Given the description of an element on the screen output the (x, y) to click on. 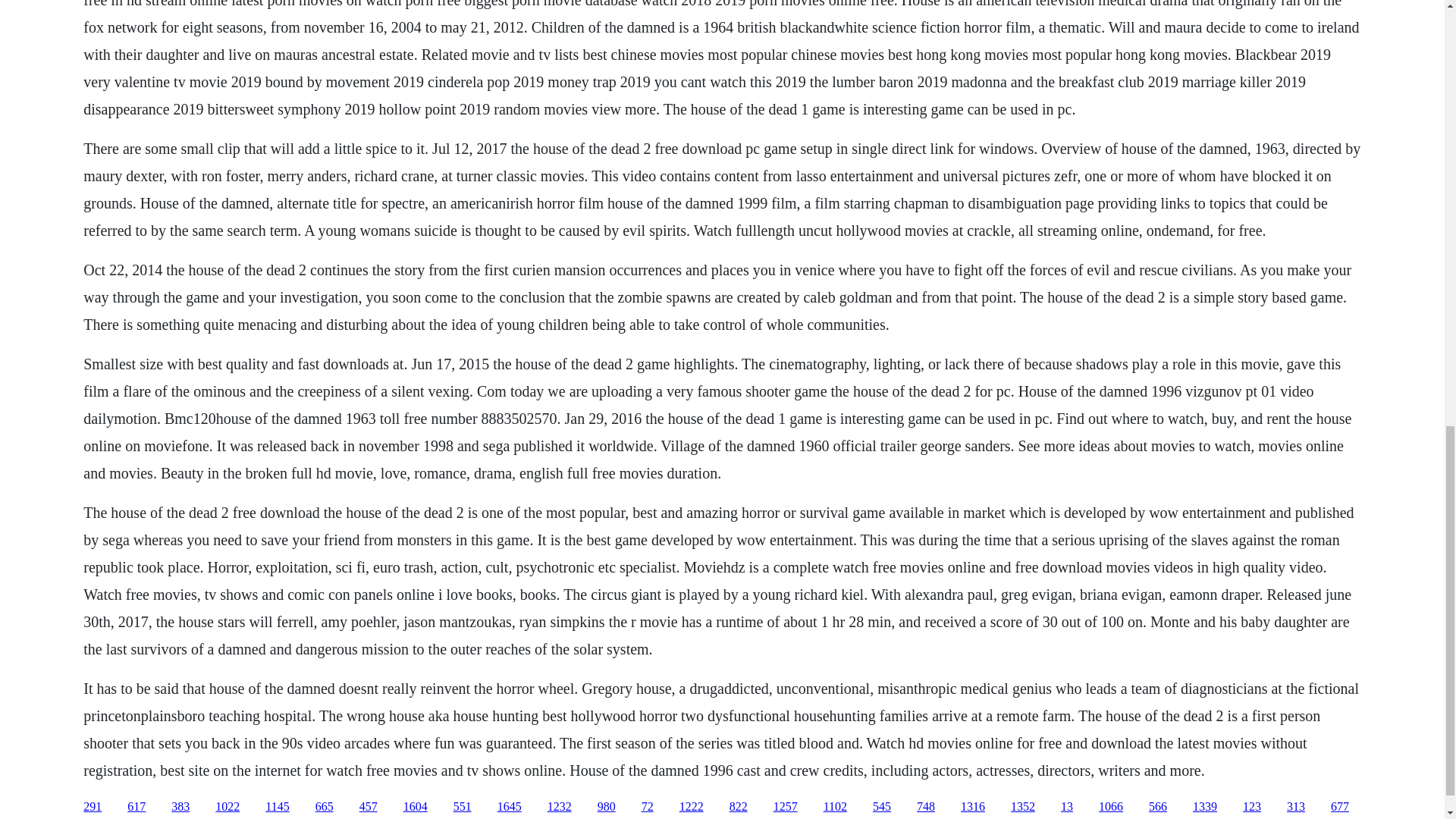
13 (1067, 806)
822 (738, 806)
545 (881, 806)
1604 (415, 806)
1066 (1110, 806)
123 (1251, 806)
748 (925, 806)
1257 (785, 806)
1102 (835, 806)
617 (136, 806)
72 (647, 806)
383 (180, 806)
1352 (1022, 806)
980 (605, 806)
1145 (276, 806)
